Given the description of an element on the screen output the (x, y) to click on. 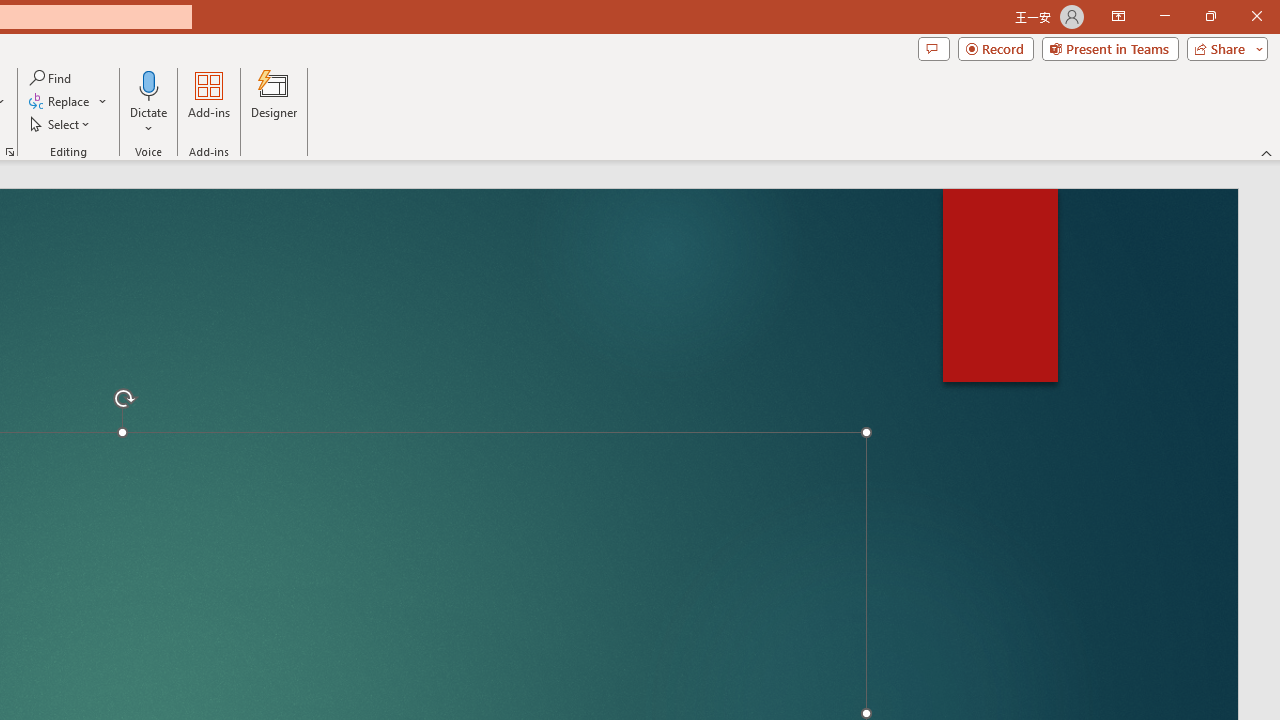
Format Object... (9, 151)
Replace... (60, 101)
Designer (274, 102)
Dictate (149, 84)
